Given the description of an element on the screen output the (x, y) to click on. 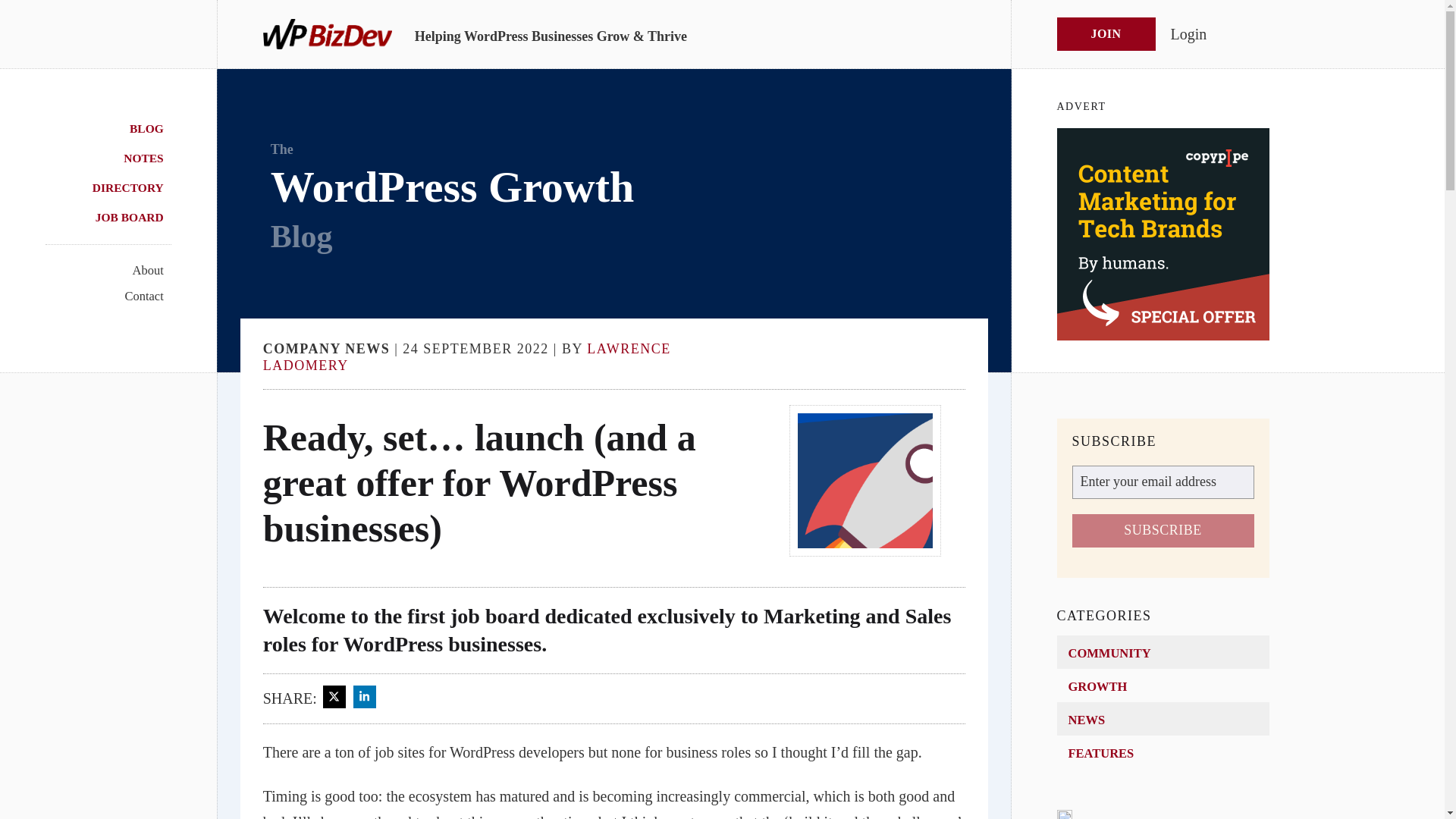
NOTES (147, 156)
LAWRENCE LADOMERY (467, 357)
About (151, 268)
DIRECTORY (132, 186)
Contact (146, 294)
BLOG (150, 127)
JOIN (1106, 33)
JOB BOARD (133, 216)
Login (1188, 33)
